Given the description of an element on the screen output the (x, y) to click on. 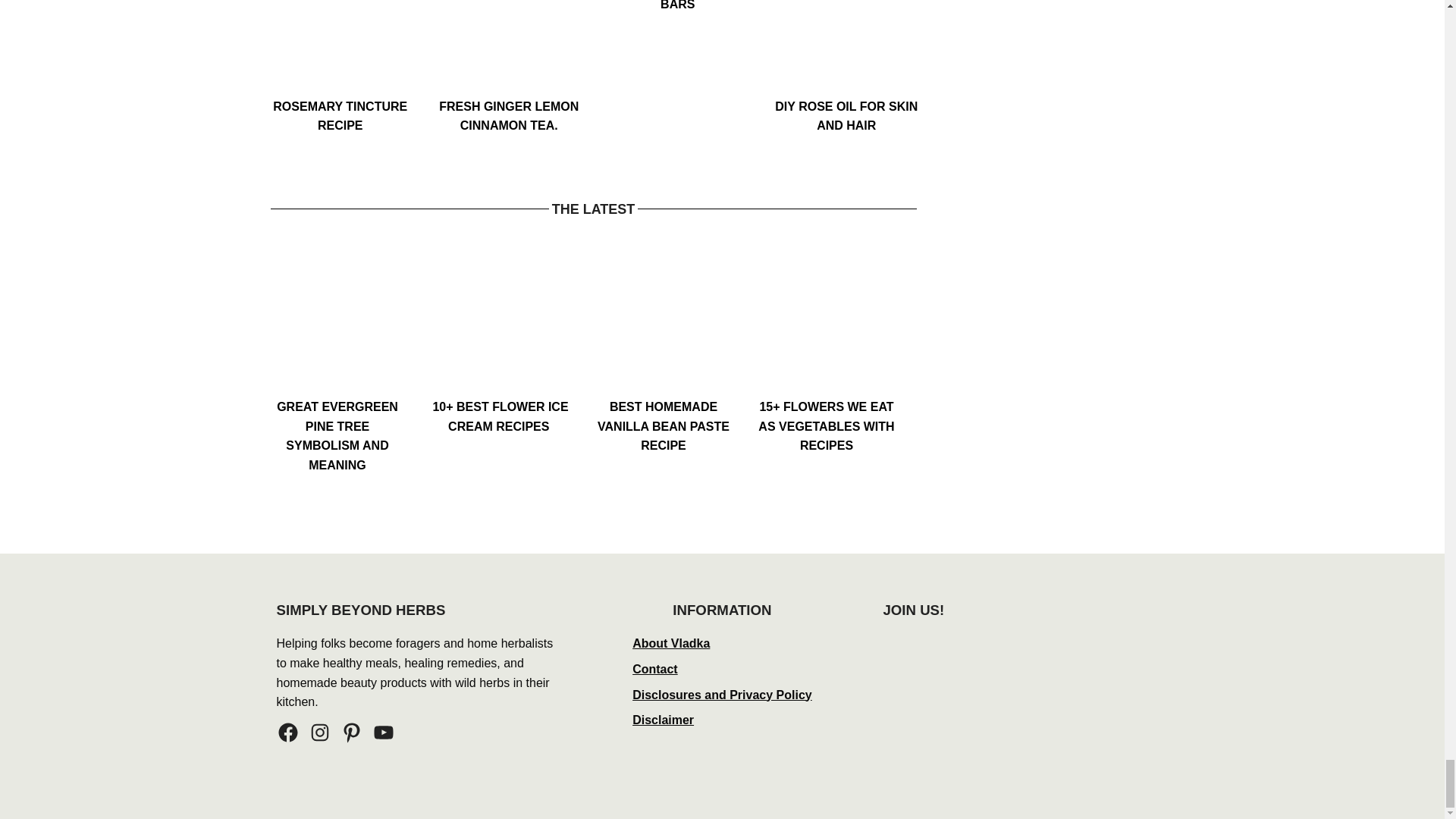
Rosemary tincture4 (339, 48)
ginger cinnamon lemon tea (508, 48)
rose oil (846, 48)
